Given the description of an element on the screen output the (x, y) to click on. 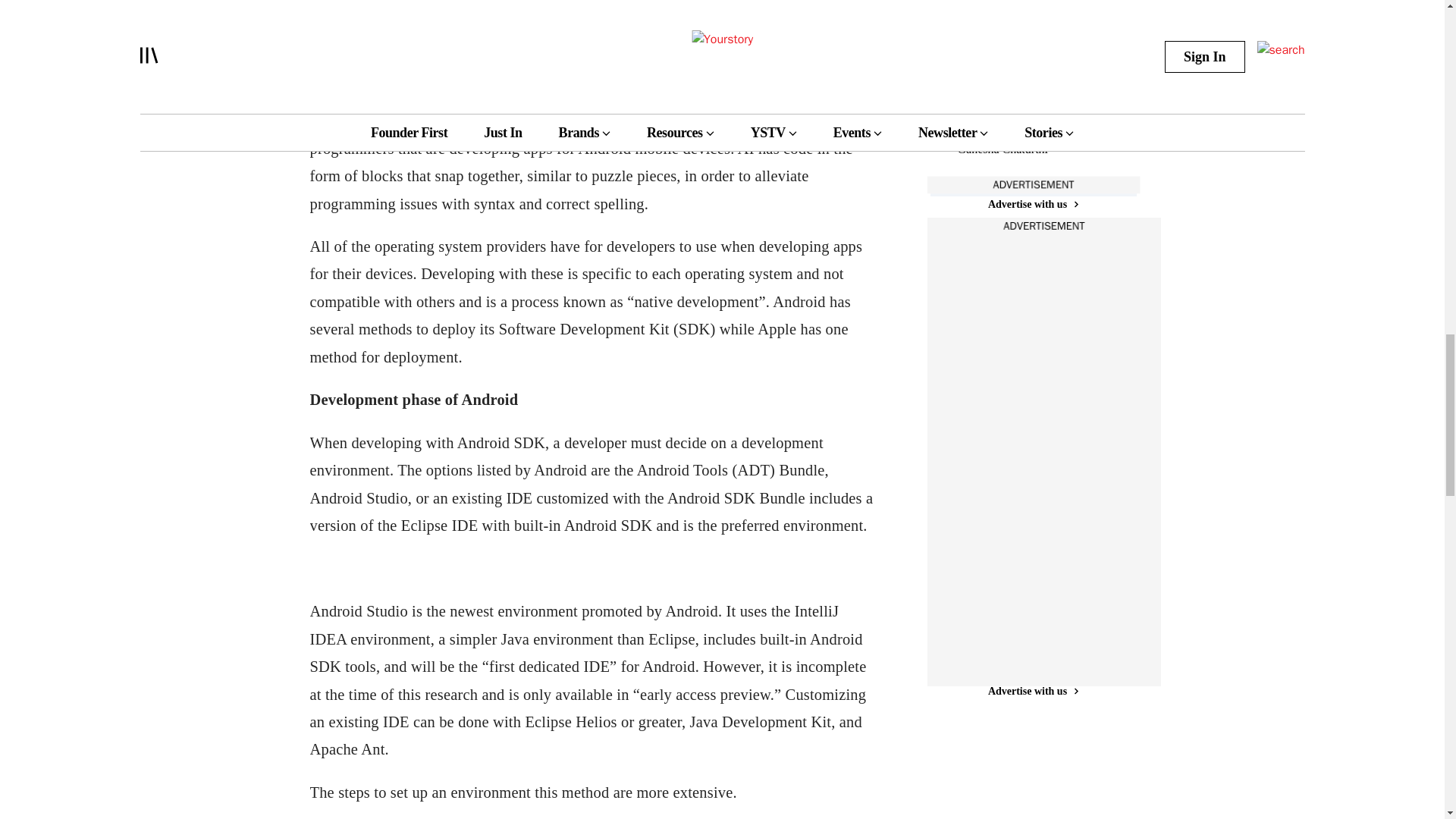
Advertise with us (1032, 691)
Top 10 Favourite Food Items Of Ganesha For Ganesha Chaturthi (1013, 131)
Advertise with us (1032, 204)
OPINION (978, 91)
What Causes People To Live Double Lives (1013, 33)
